Given the description of an element on the screen output the (x, y) to click on. 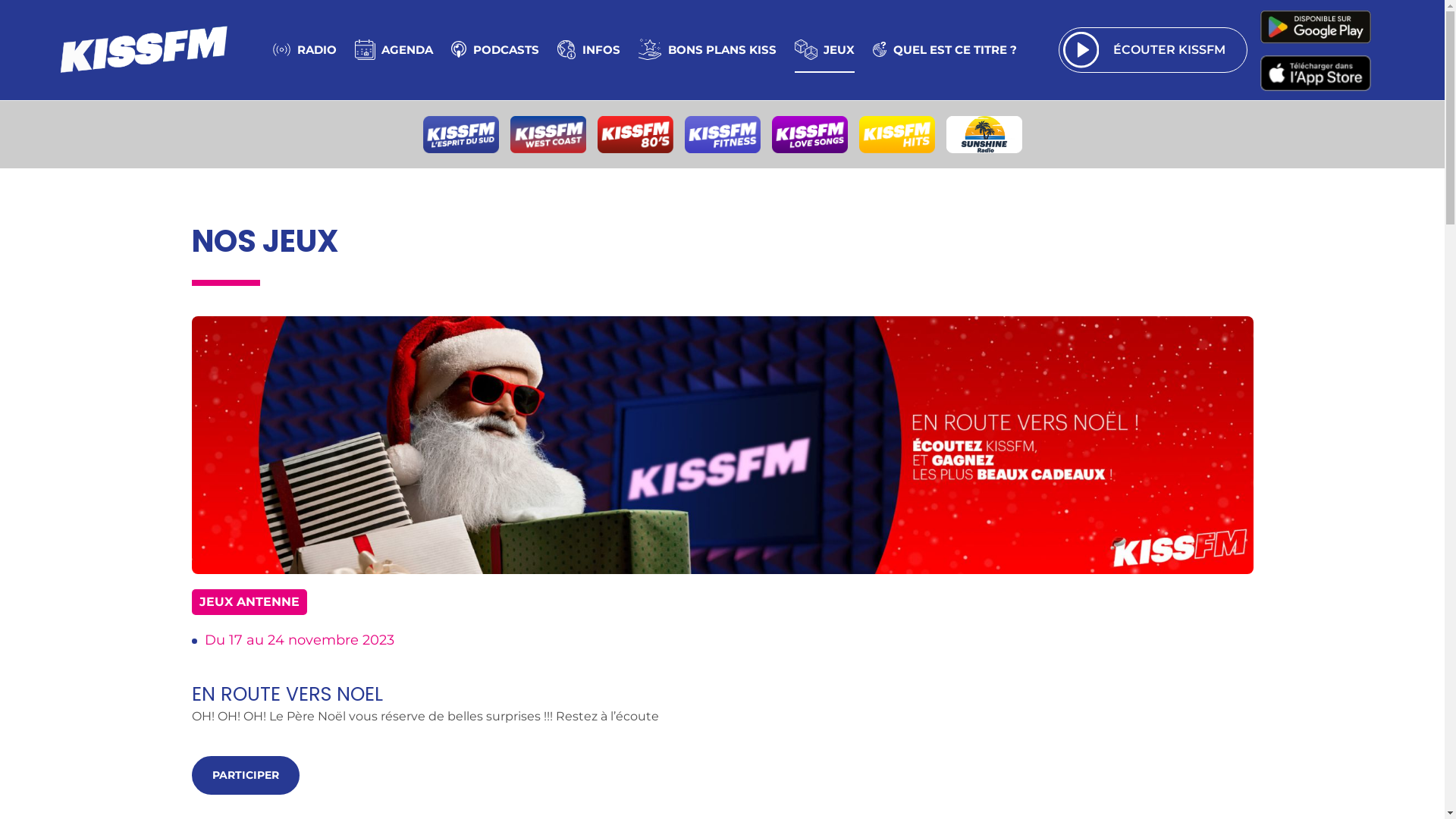
AGENDA Element type: text (393, 49)
RADIO Element type: text (304, 49)
PARTICIPER Element type: text (244, 775)
BONS PLANS KISS Element type: text (707, 49)
QUEL EST CE TITRE ? Element type: text (944, 49)
PODCASTS Element type: text (495, 49)
JEUX Element type: text (824, 49)
INFOS Element type: text (588, 49)
